Given the description of an element on the screen output the (x, y) to click on. 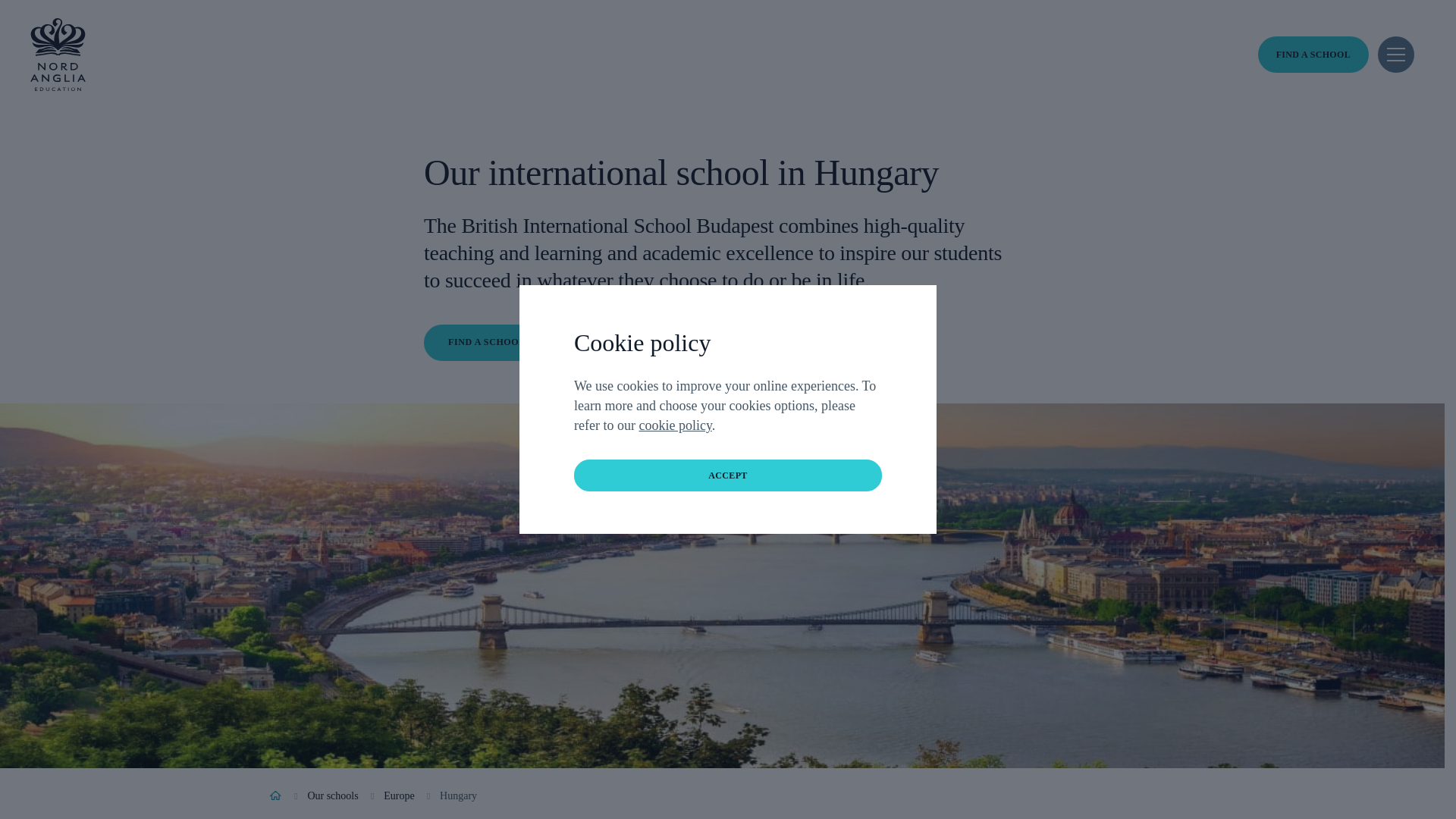
FIND A SCHOOL (1312, 54)
FIND A SCHOOL (1312, 54)
